Given the description of an element on the screen output the (x, y) to click on. 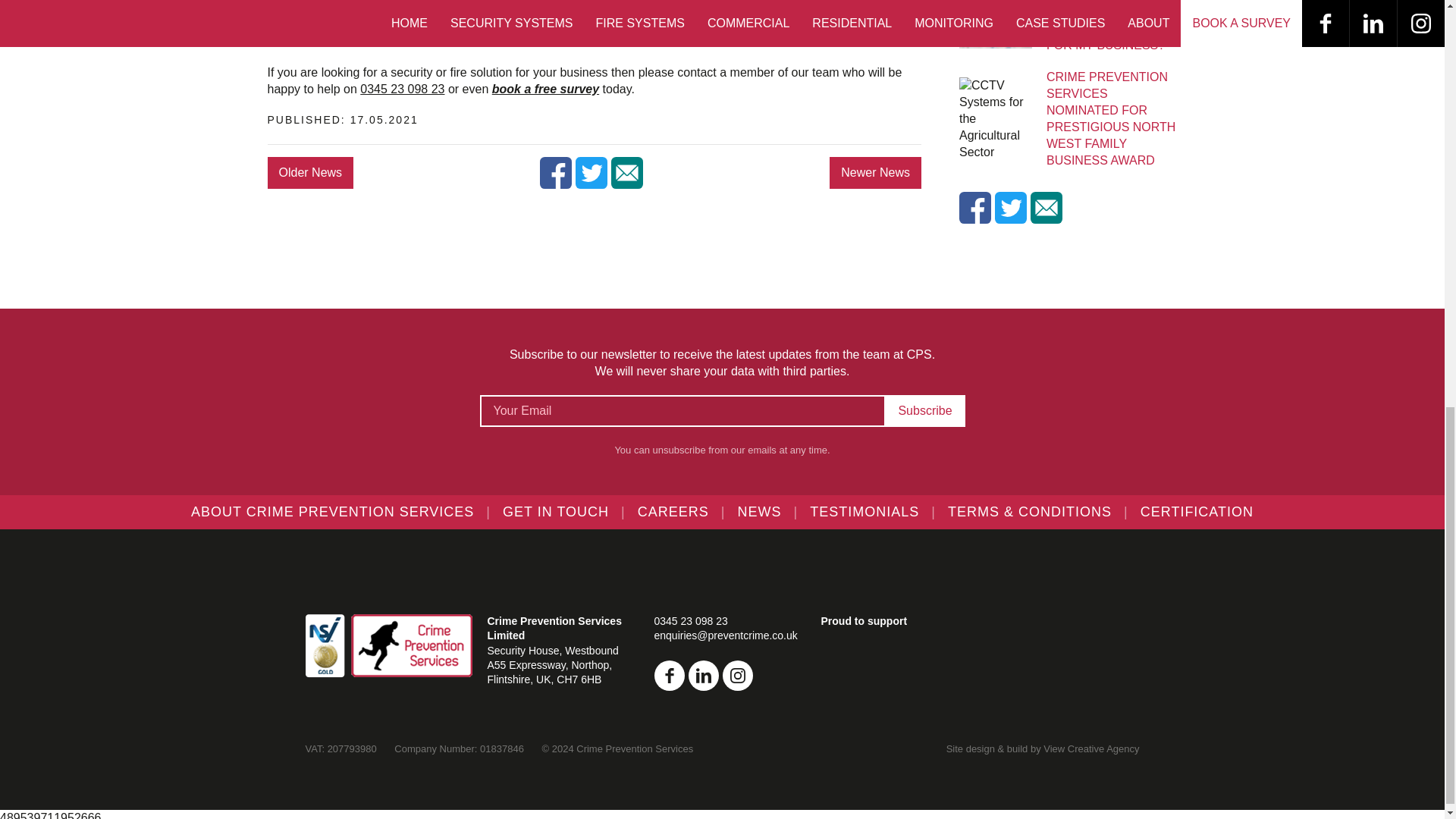
Fire Extinguishers (351, 38)
Newer News (875, 173)
Older News (309, 173)
book a free survey (545, 88)
Digital Marketing, brand design and web development (1090, 748)
Fire Alarm (328, 21)
Subscribe (925, 410)
0345 23 098 23 (401, 88)
